Given the description of an element on the screen output the (x, y) to click on. 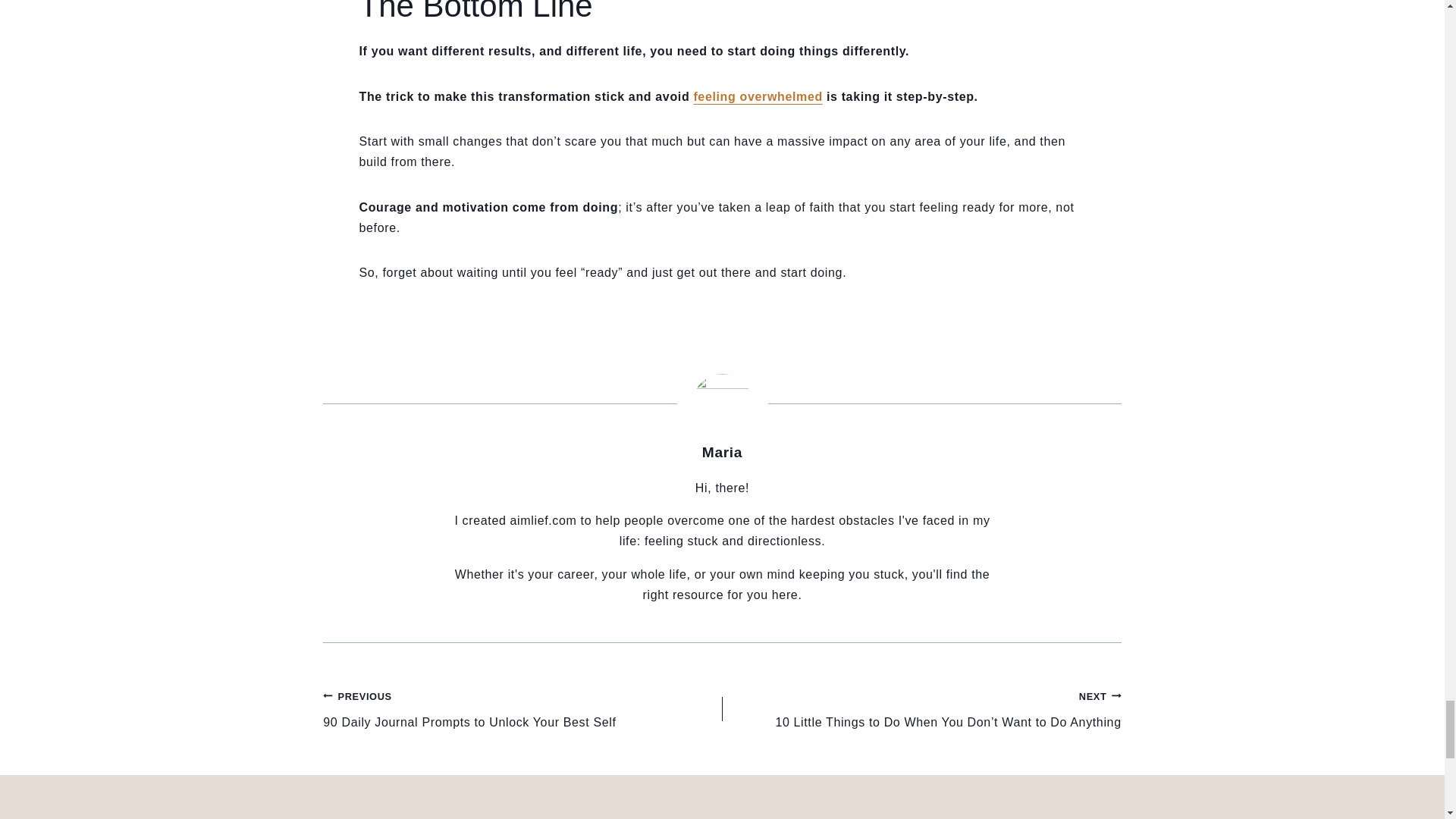
Posts by Maria (721, 452)
